Given the description of an element on the screen output the (x, y) to click on. 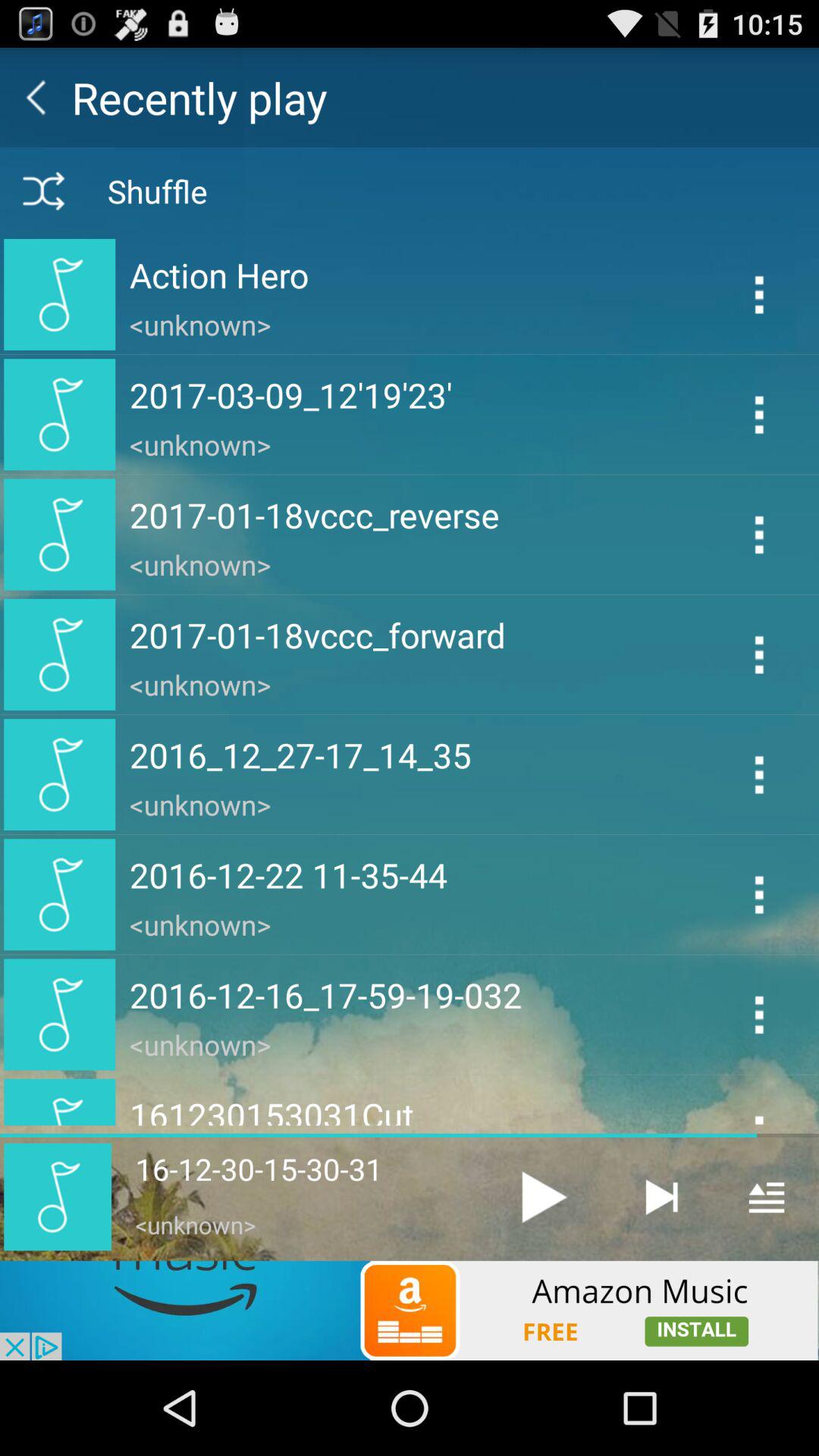
back button (35, 97)
